Given the description of an element on the screen output the (x, y) to click on. 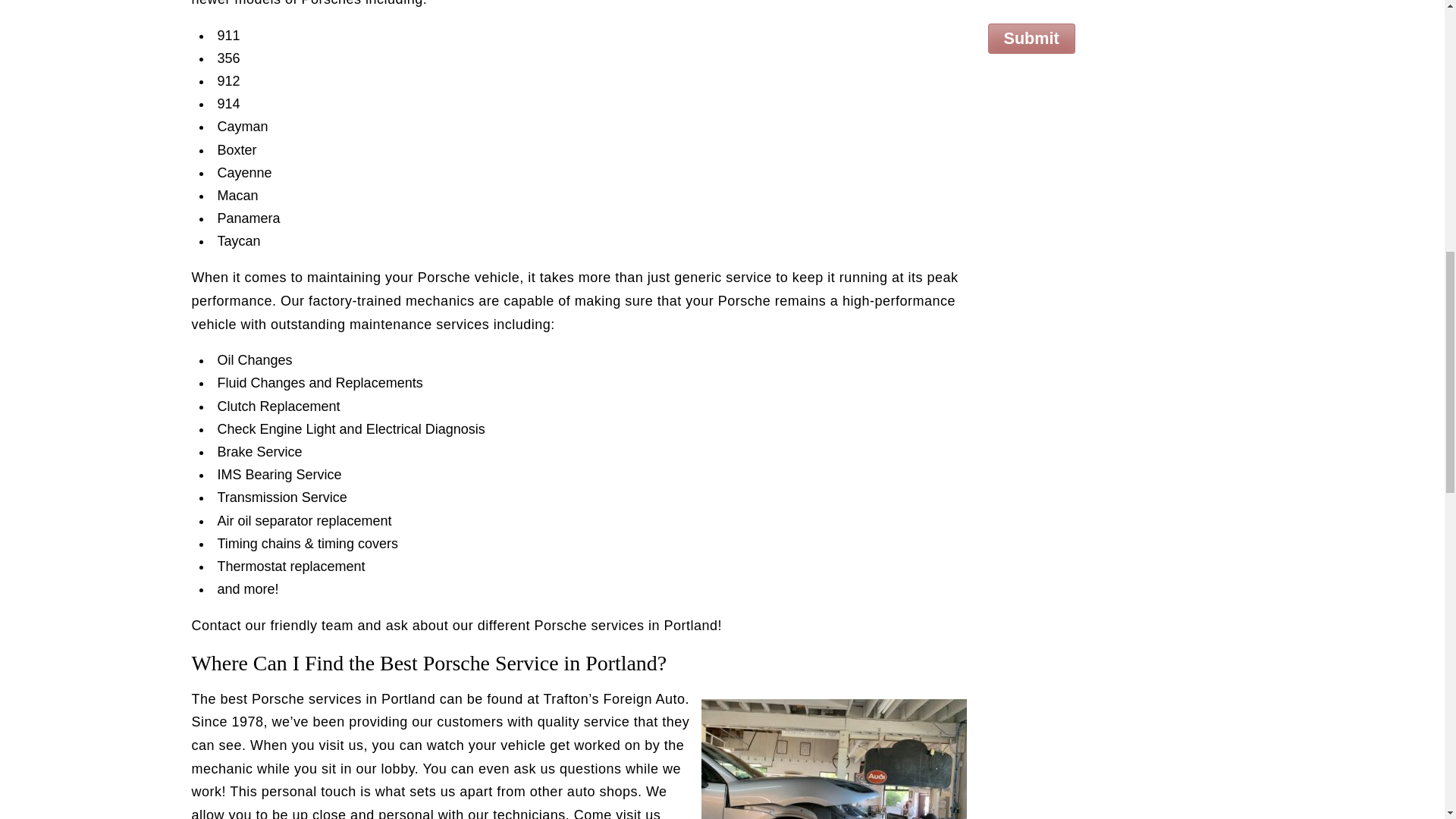
Submit (1030, 38)
Submit (1030, 38)
Porsche Service Shop Portland (833, 759)
